Given the description of an element on the screen output the (x, y) to click on. 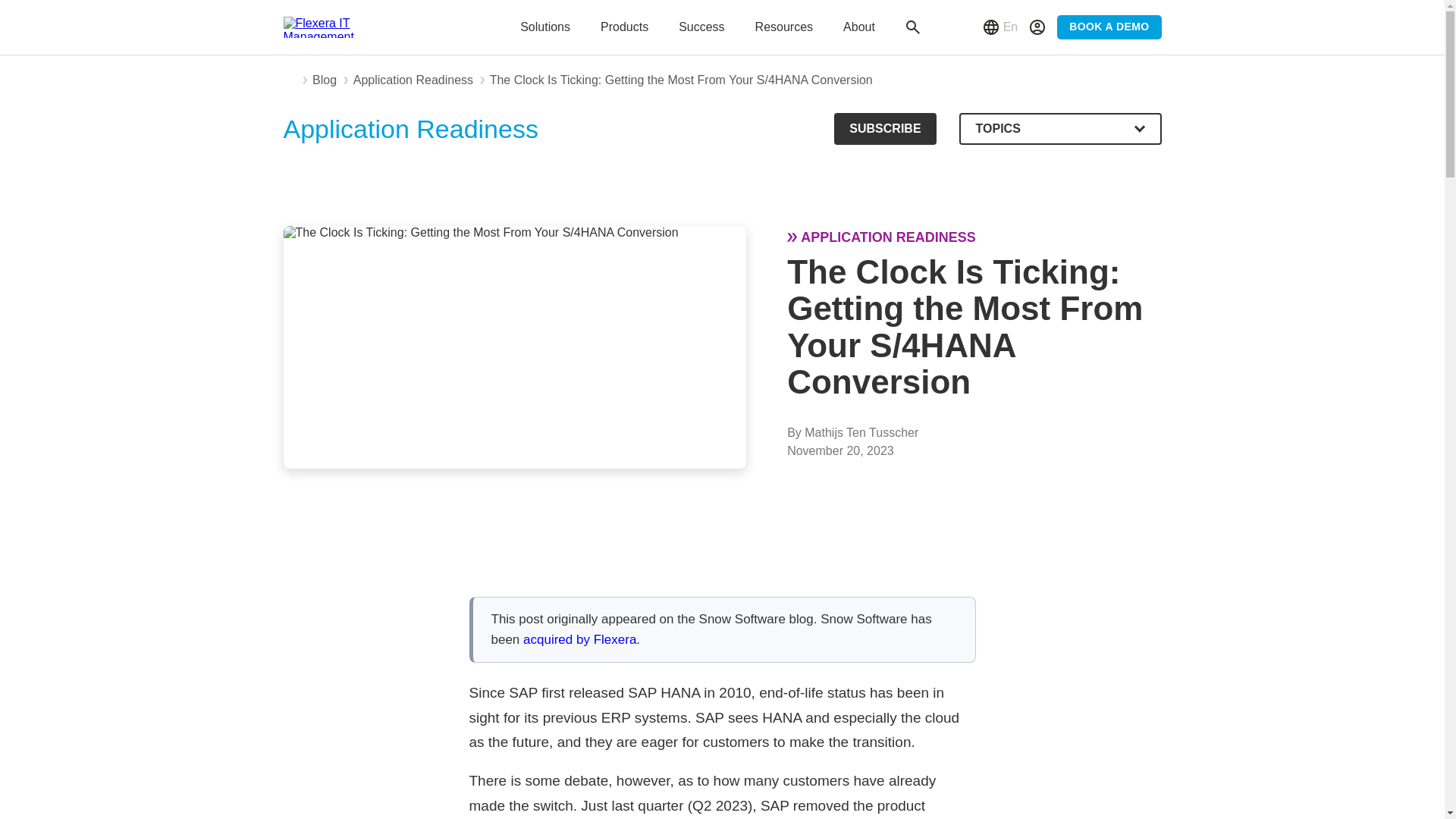
Flexera (328, 26)
Flexera Home (290, 80)
Solutions (544, 27)
